Given the description of an element on the screen output the (x, y) to click on. 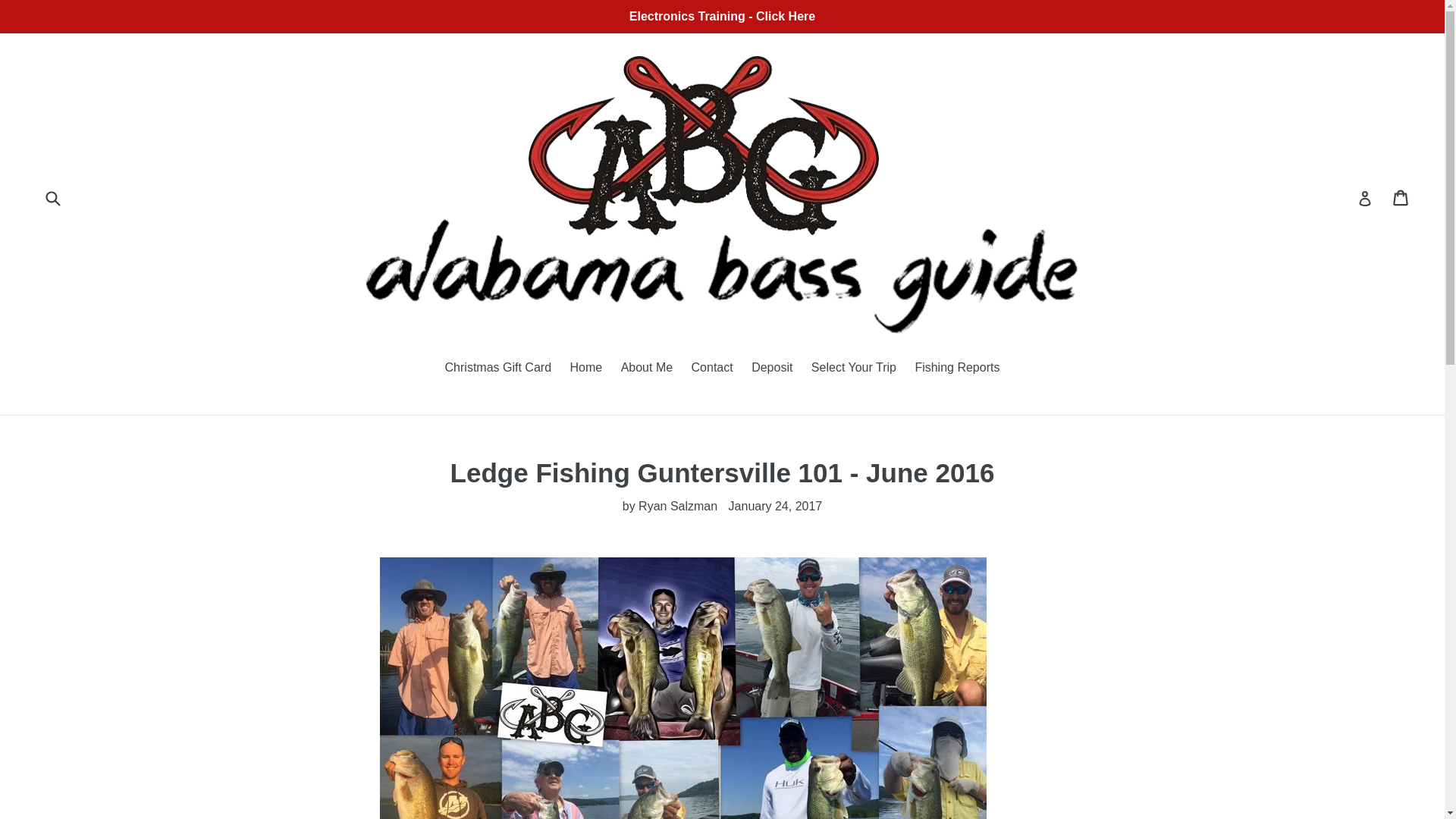
Christmas Gift Card (498, 368)
Fishing Reports (957, 368)
Home (586, 368)
About Me (645, 368)
Deposit (771, 368)
Contact (712, 368)
Select Your Trip (853, 368)
